Given the description of an element on the screen output the (x, y) to click on. 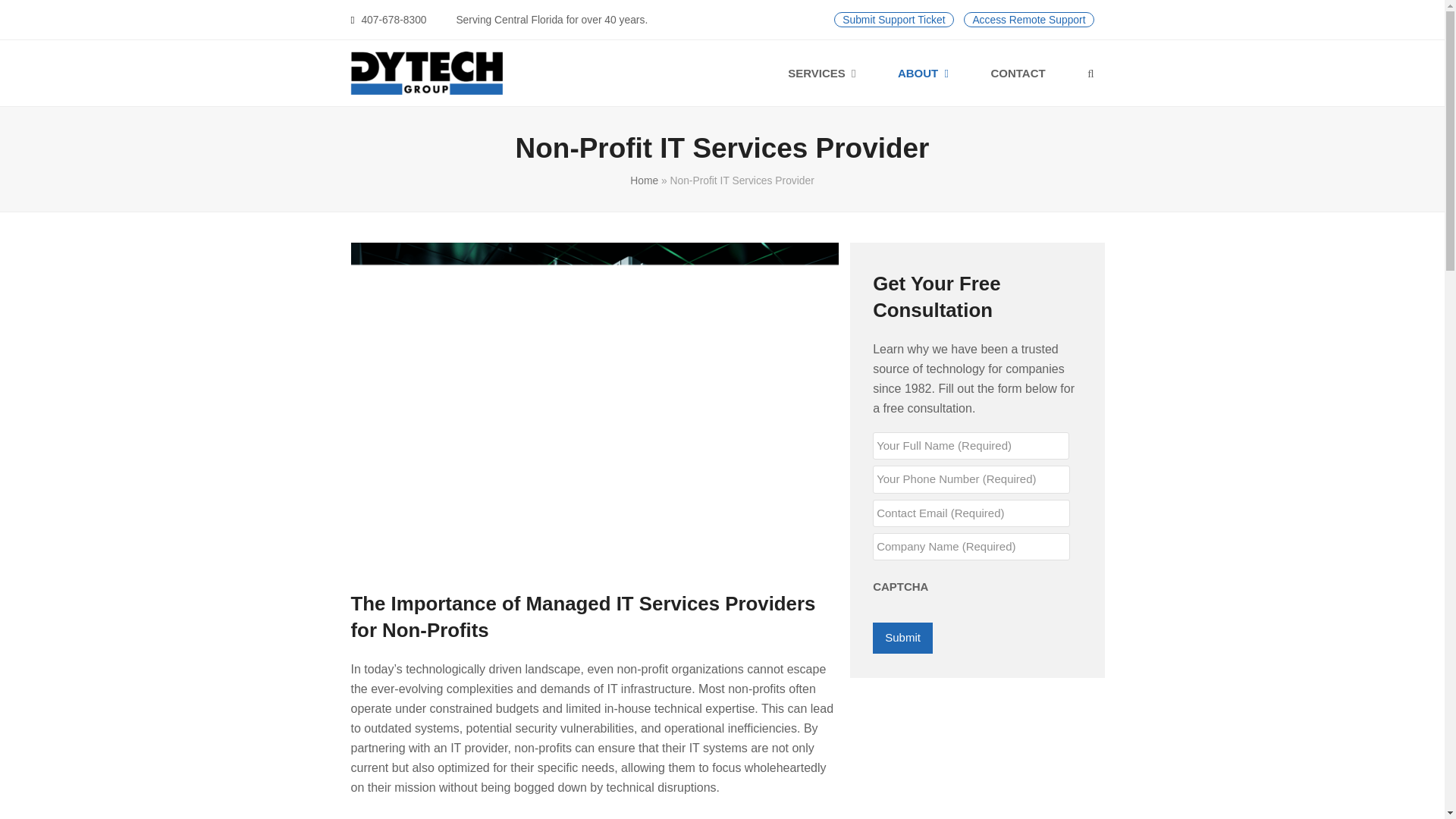
ABOUT (923, 73)
CONTACT (1017, 73)
Submit Support Ticket (893, 19)
SERVICES (821, 73)
Submit (902, 637)
407-678-8300 (393, 19)
Access Remote Support (1028, 19)
